Given the description of an element on the screen output the (x, y) to click on. 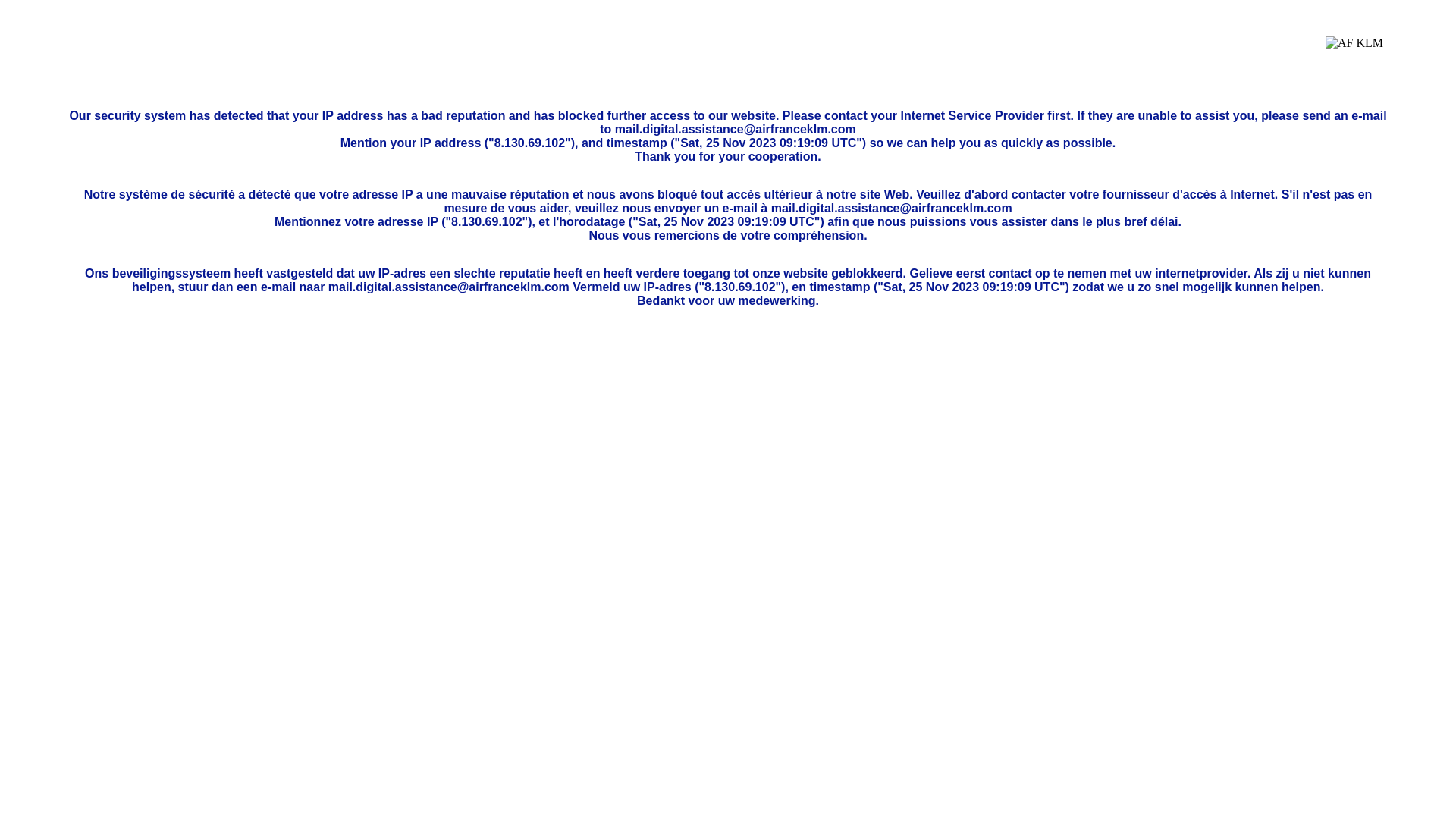
AF KLM Element type: hover (1354, 54)
